Given the description of an element on the screen output the (x, y) to click on. 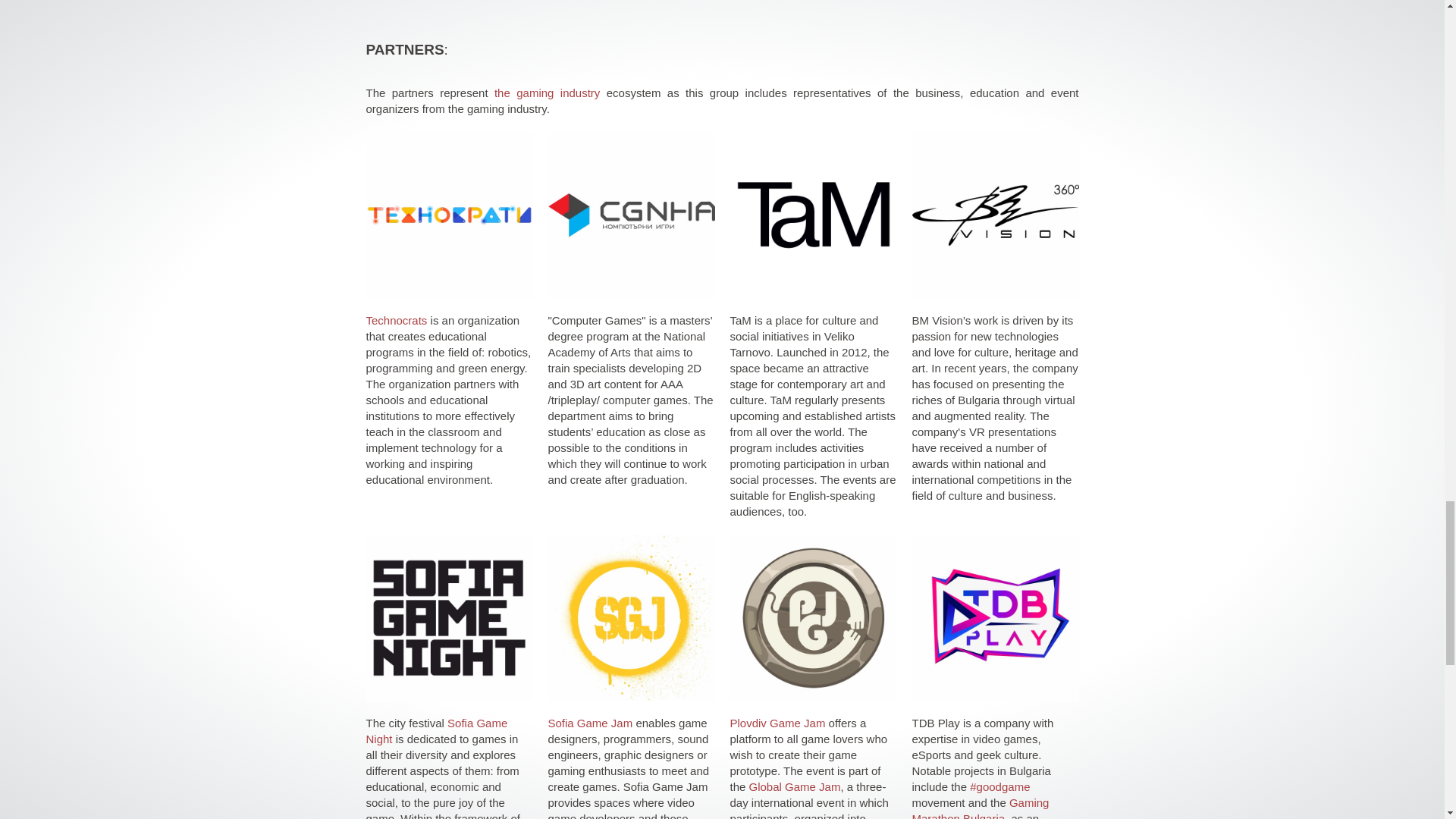
Sofia Game Jam (589, 722)
Plovdiv Game Jam (777, 722)
the gaming industry (547, 92)
Technocrats (395, 319)
Gaming Marathon Bulgaria (979, 807)
Global Game Jam (795, 786)
Sofia Game Night (435, 730)
